Given the description of an element on the screen output the (x, y) to click on. 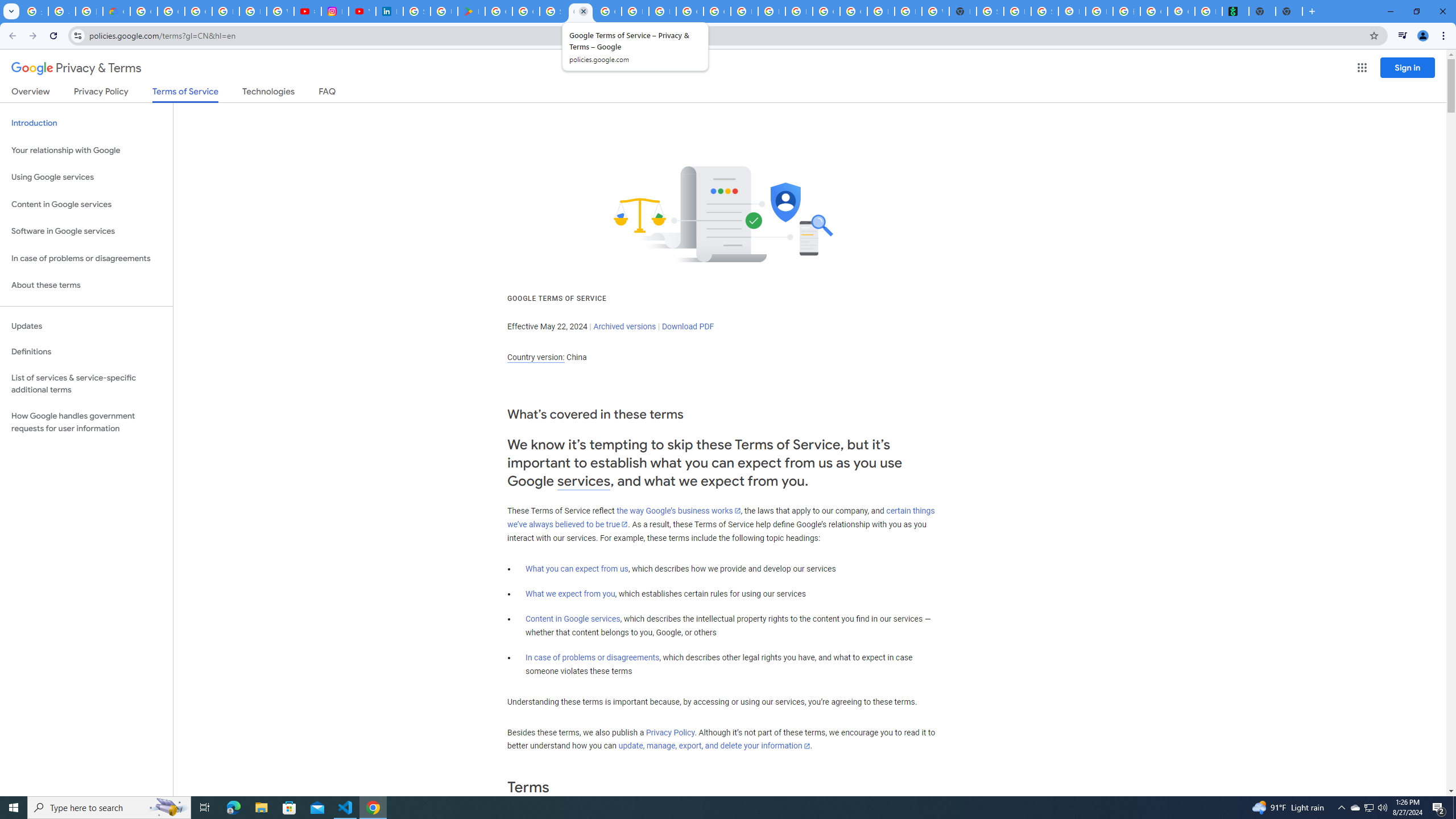
Introduction (86, 122)
Software in Google services (86, 230)
Google Cloud Platform (853, 11)
